Given the description of an element on the screen output the (x, y) to click on. 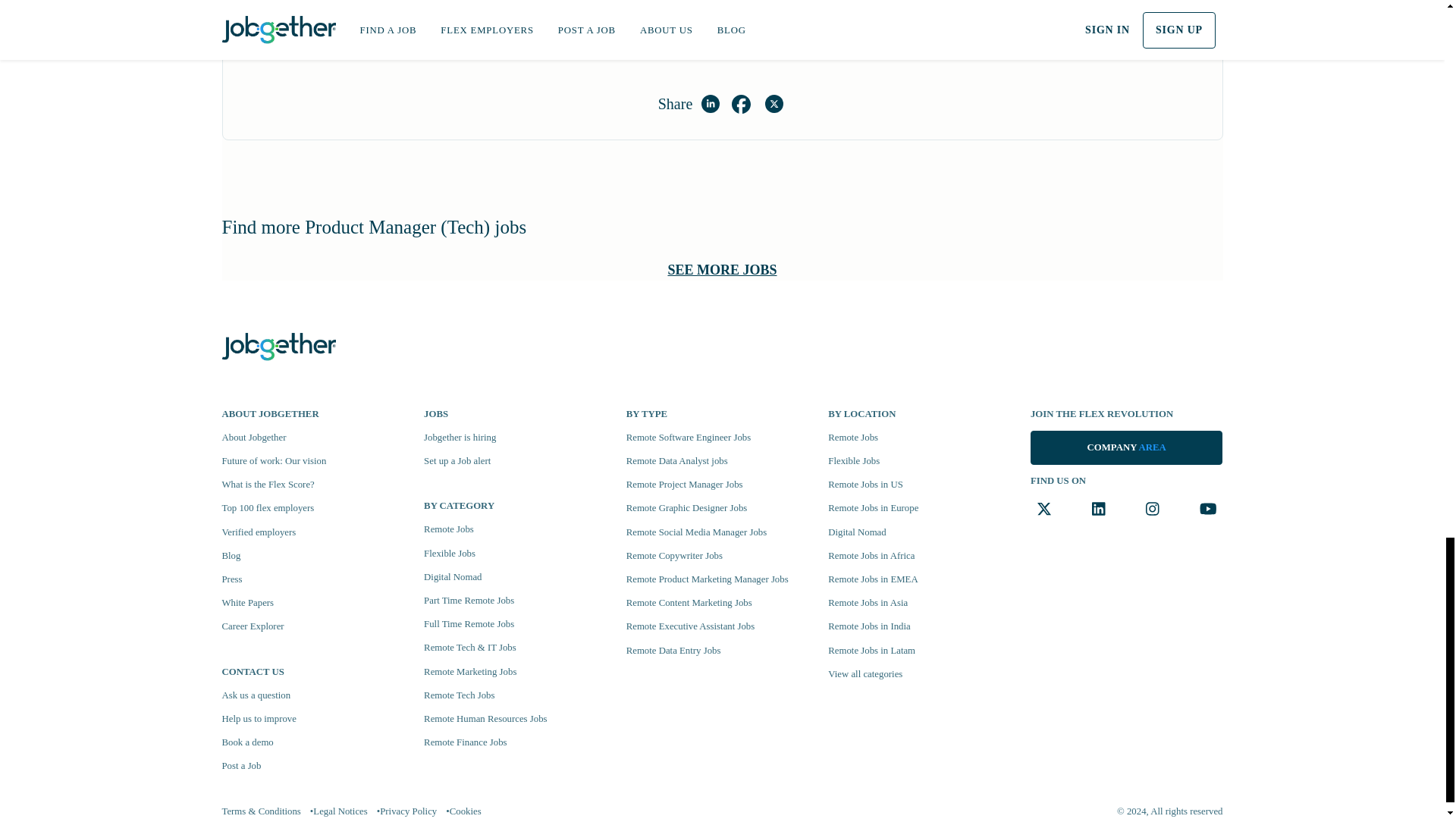
Share on Twitter (774, 104)
Share on Facebook (740, 104)
Share on Linkedin (710, 104)
Return to home page (277, 344)
